Given the description of an element on the screen output the (x, y) to click on. 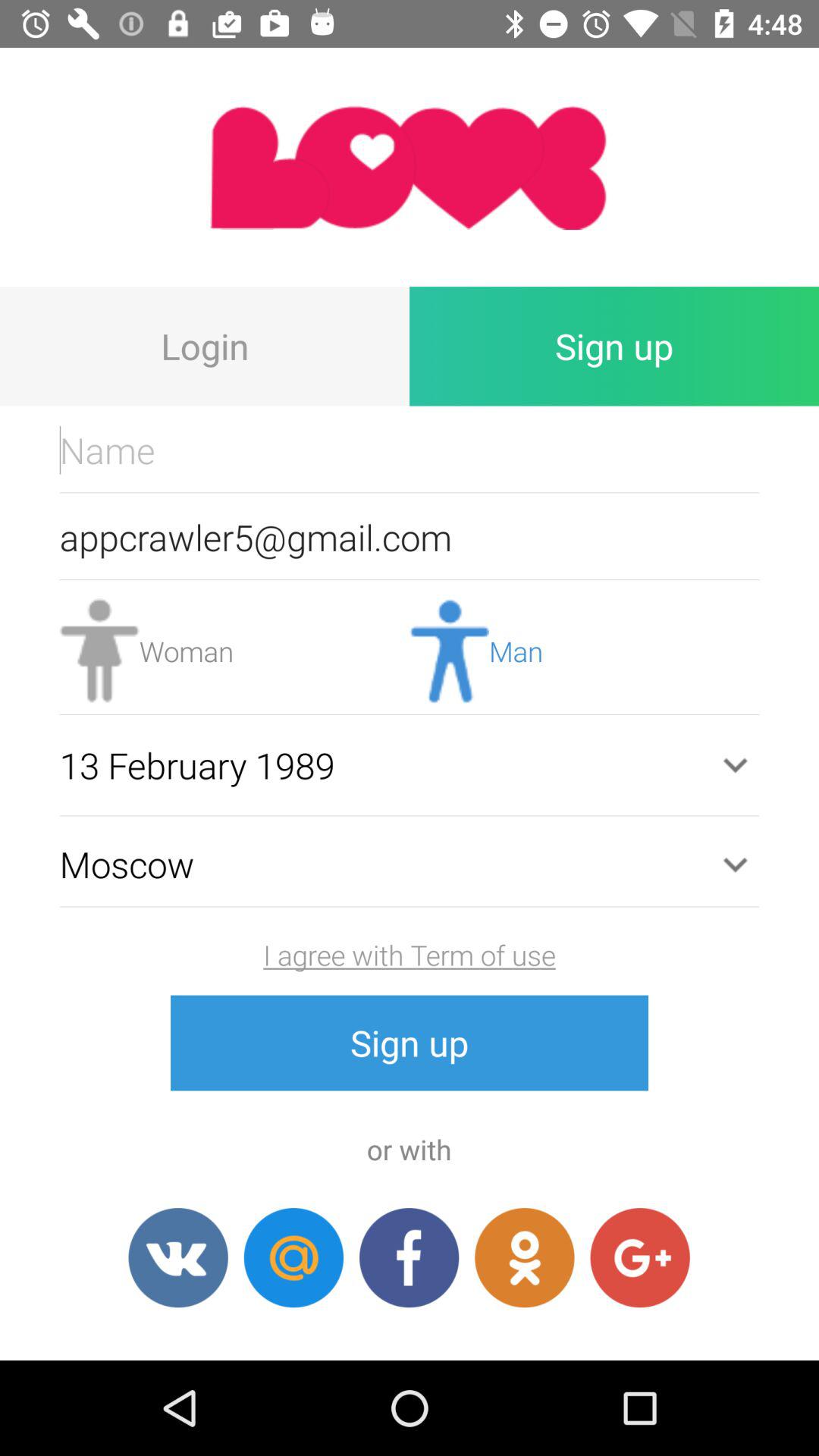
sign in with vk (178, 1257)
